Given the description of an element on the screen output the (x, y) to click on. 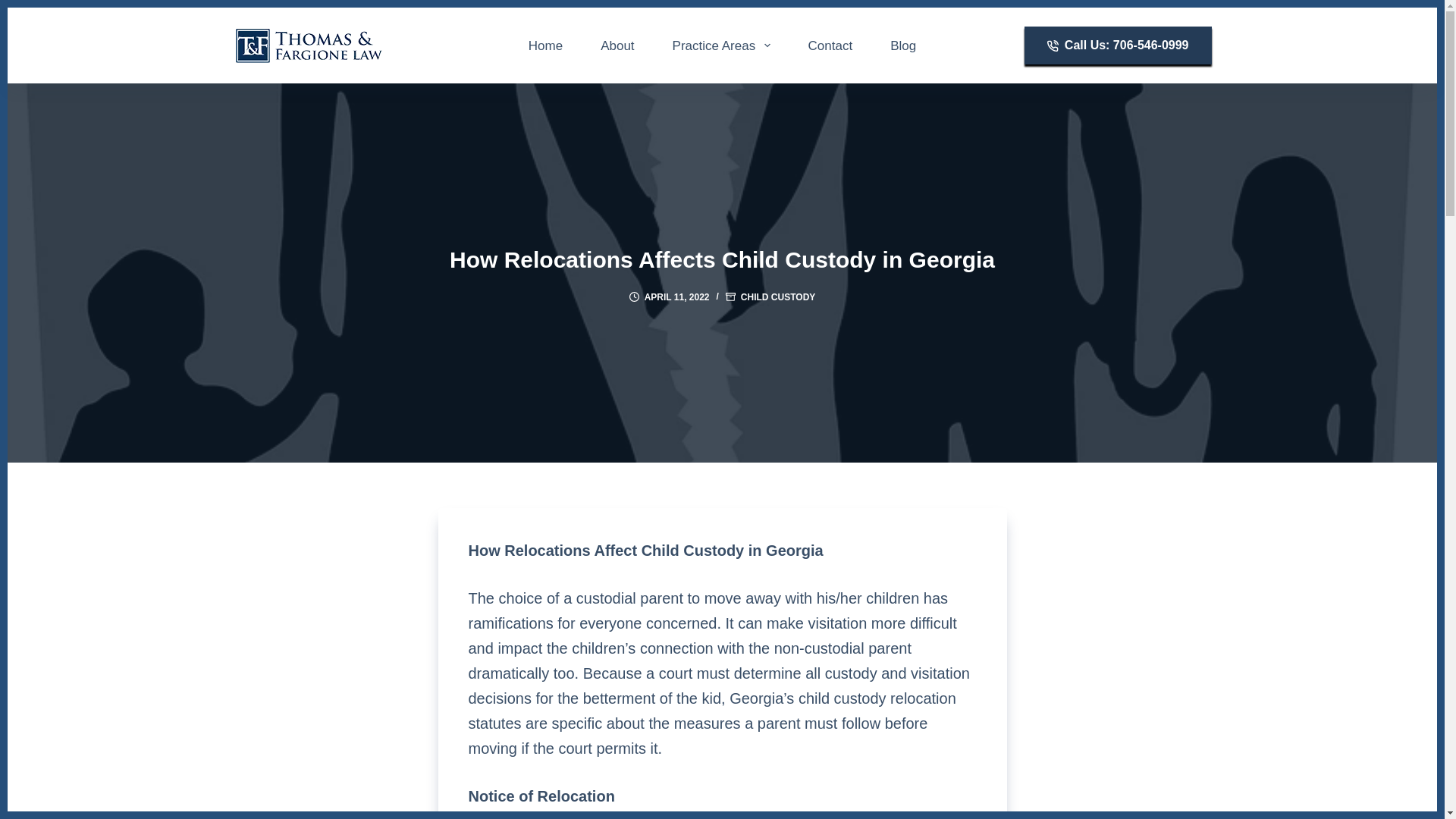
Practice Areas (721, 45)
Skip to content (15, 7)
About (616, 45)
How Relocations Affects Child Custody in Georgia (722, 259)
Home (544, 45)
